Given the description of an element on the screen output the (x, y) to click on. 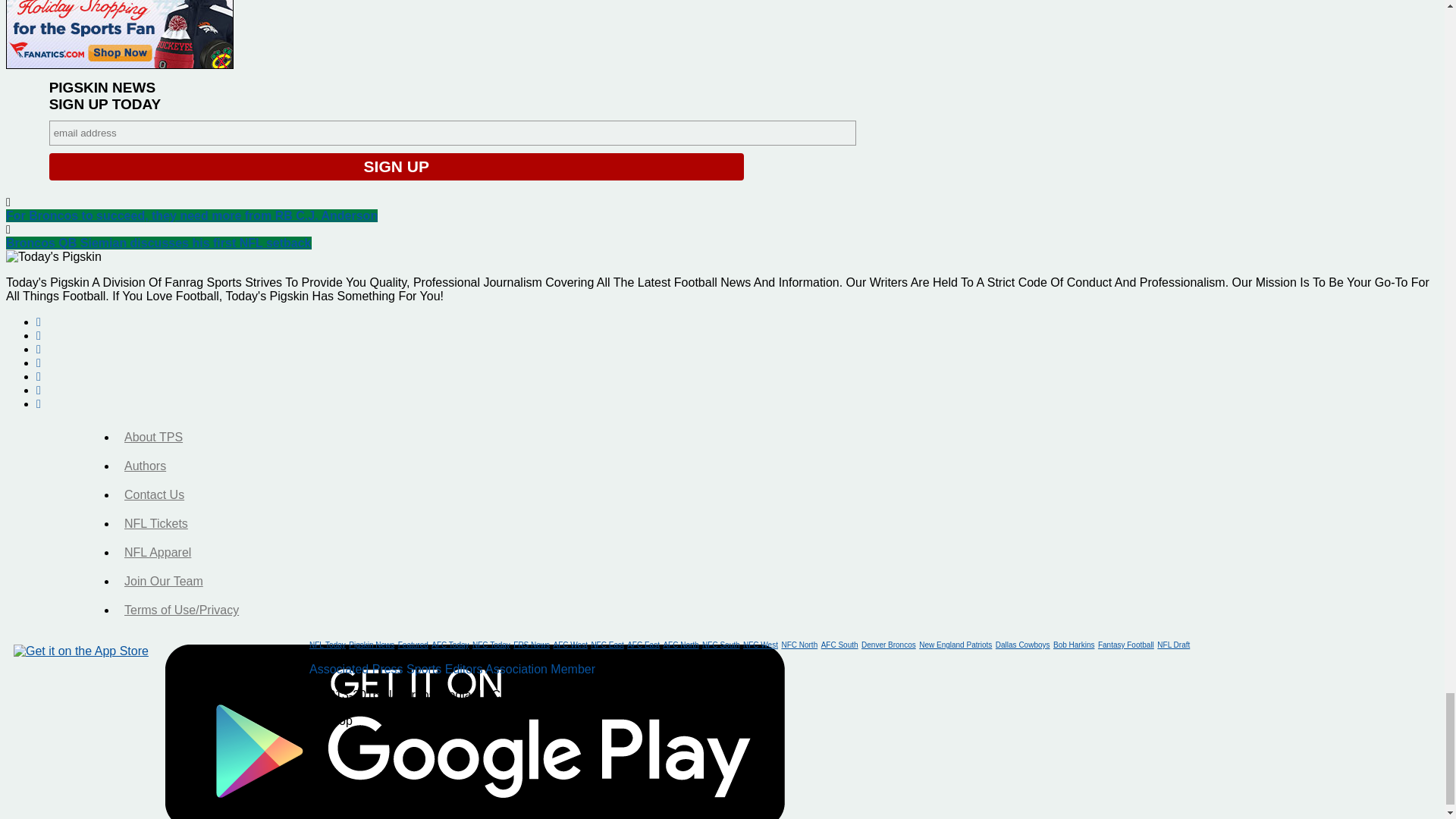
Sign Up (396, 166)
